Given the description of an element on the screen output the (x, y) to click on. 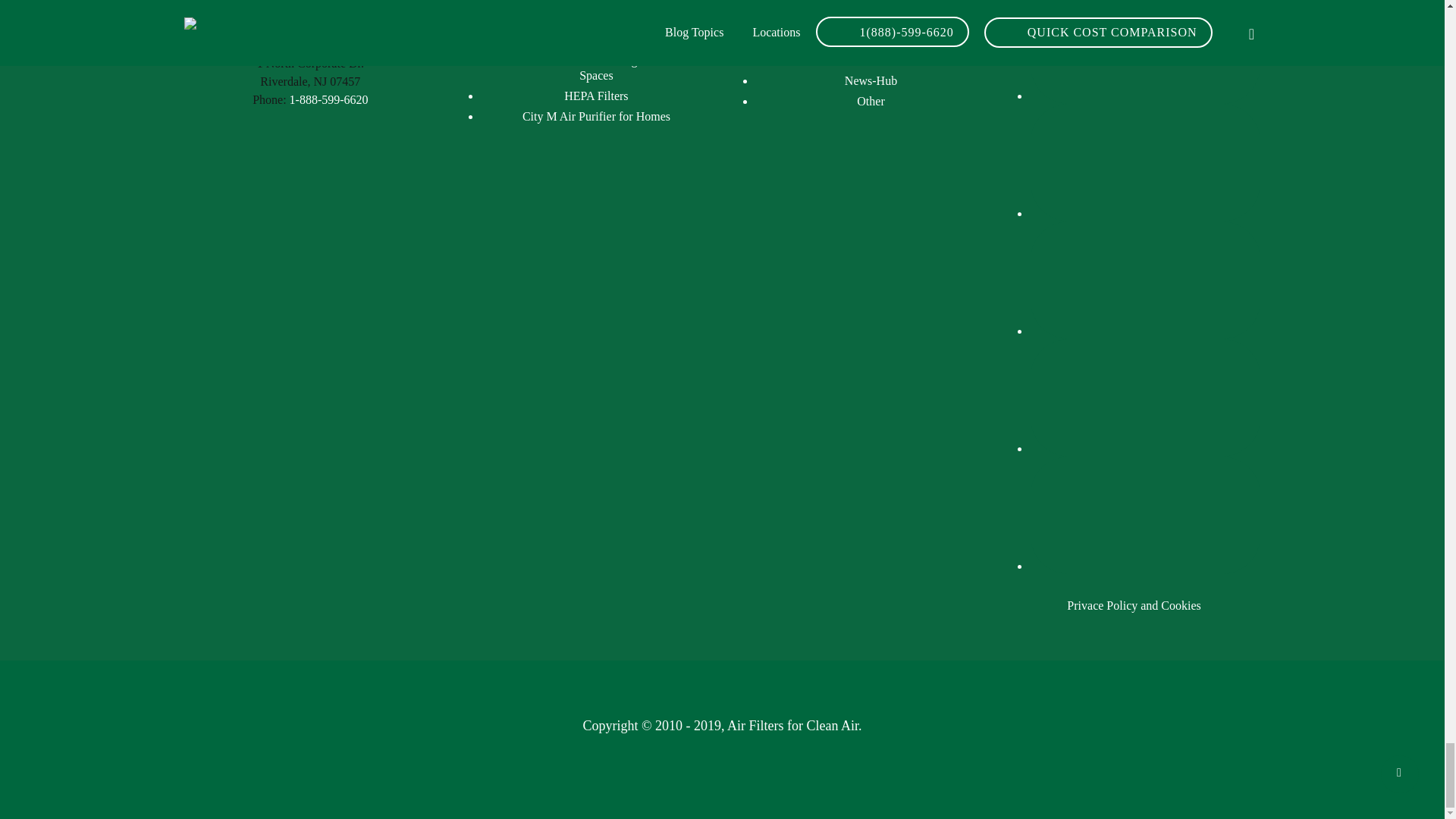
Facebook (1145, 49)
LinkedIn (1145, 160)
Twitter (1145, 395)
YouTube (1145, 513)
RSS (1145, 277)
